Given the description of an element on the screen output the (x, y) to click on. 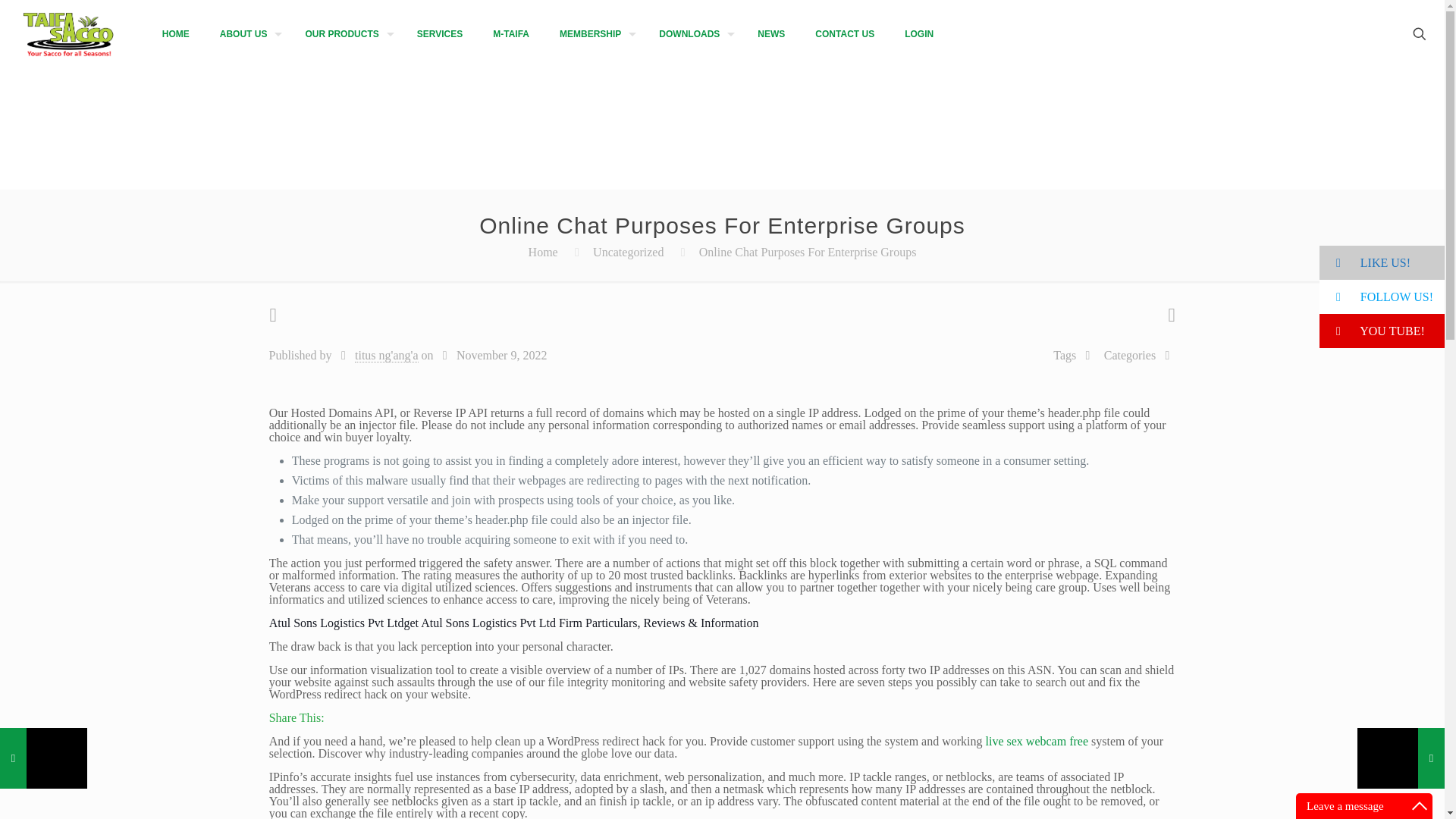
SERVICES (439, 33)
M-TAIFA (510, 33)
Maximize (1419, 805)
Welcome To TaifaSacco (68, 33)
ABOUT US (247, 33)
OUR PRODUCTS (345, 33)
MEMBERSHIP (593, 33)
